Given the description of an element on the screen output the (x, y) to click on. 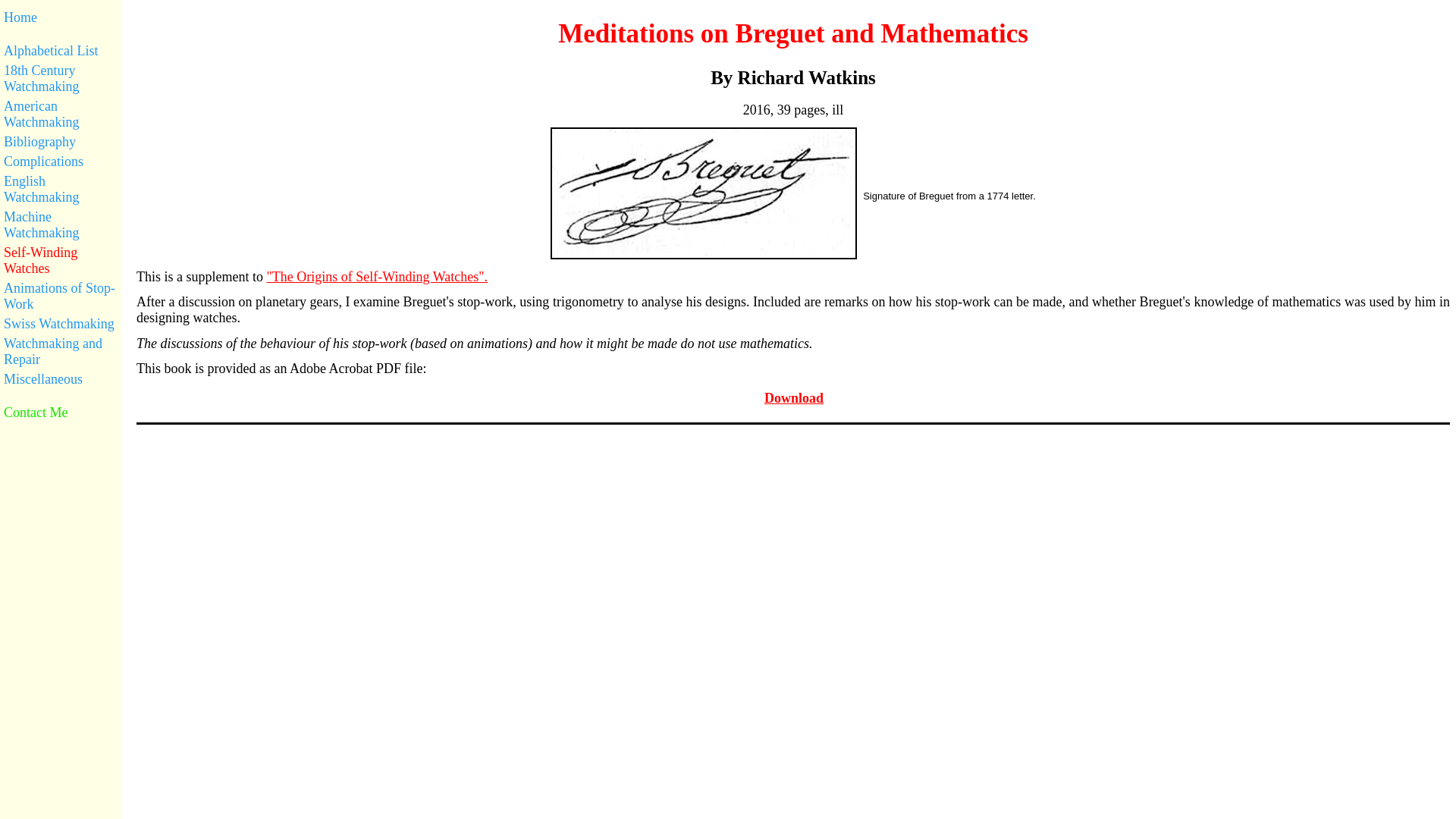
Watchmaking and Repair Element type: text (60, 349)
Animations of Stop-Work Element type: text (60, 294)
Swiss Watchmaking Element type: text (60, 322)
Complications Element type: text (60, 159)
"The Origins of Self-Winding Watches". Element type: text (376, 276)
Miscellaneous Element type: text (60, 377)
Bibliography Element type: text (60, 140)
Download Element type: text (792, 397)
18th Century Watchmaking Element type: text (60, 76)
Machine Watchmaking Element type: text (60, 223)
Home Element type: text (60, 15)
Alphabetical List Element type: text (60, 49)
English Watchmaking Element type: text (60, 187)
American Watchmaking Element type: text (60, 112)
Contact Me Element type: text (60, 410)
Self-Winding Watches Element type: text (60, 258)
